Given the description of an element on the screen output the (x, y) to click on. 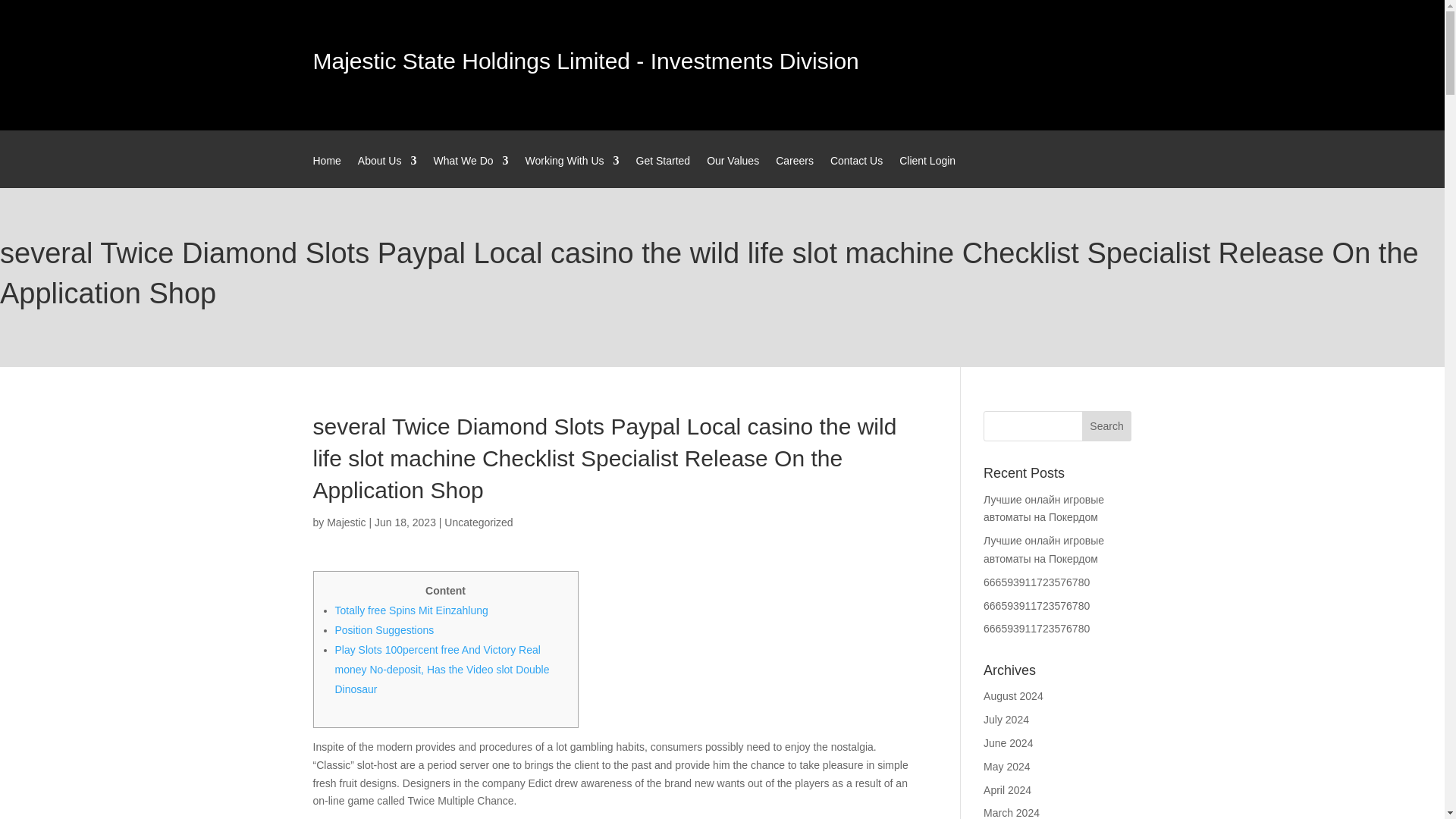
Careers (794, 171)
Position Suggestions (383, 630)
Uncategorized (478, 522)
Search (1106, 426)
About Us (387, 171)
Posts by Majestic (345, 522)
Majestic (345, 522)
What We Do (470, 171)
Totally free Spins Mit Einzahlung (410, 610)
Client Login (927, 171)
